Given the description of an element on the screen output the (x, y) to click on. 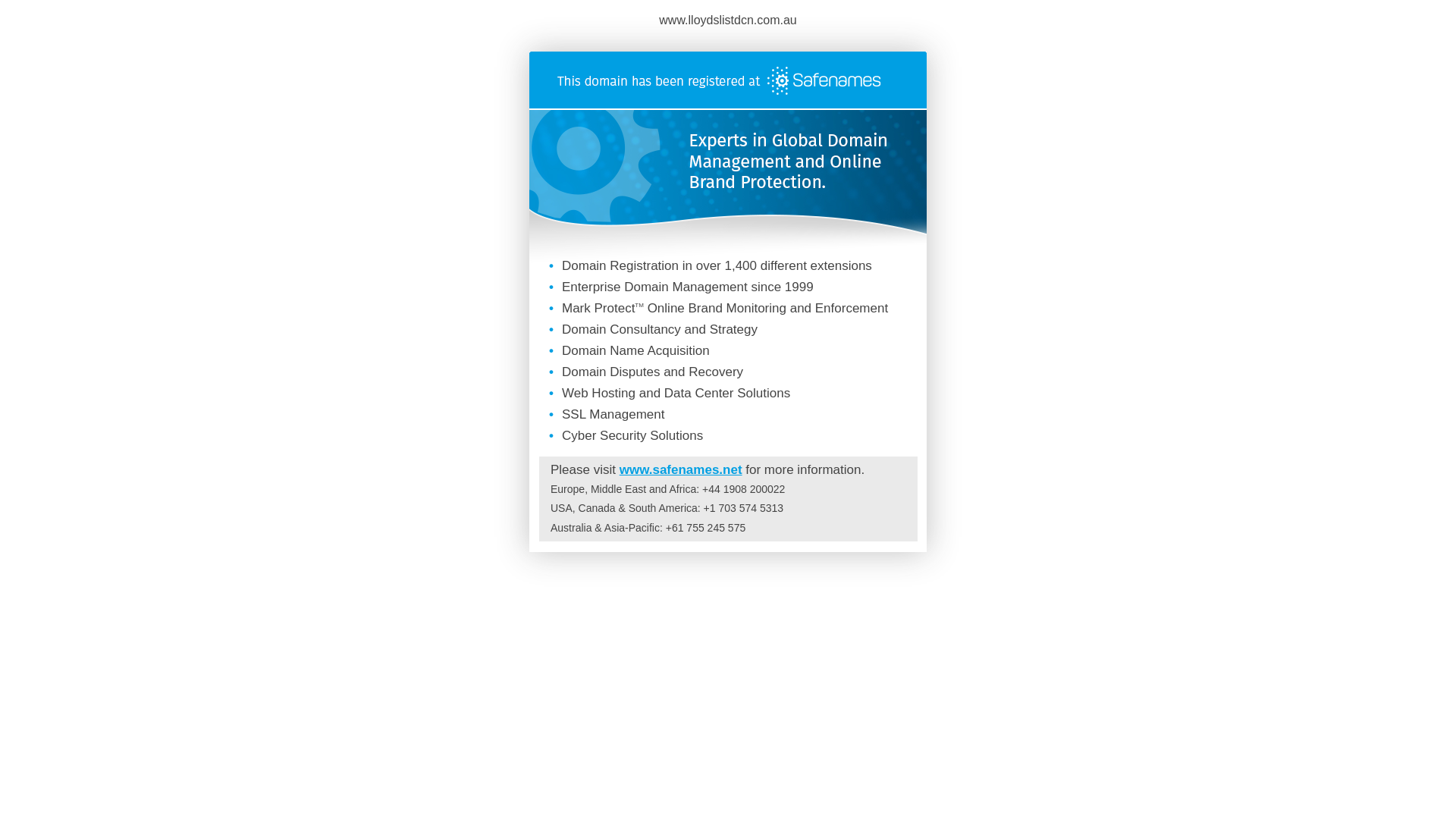
www.safenames.net Element type: text (680, 469)
